Given the description of an element on the screen output the (x, y) to click on. 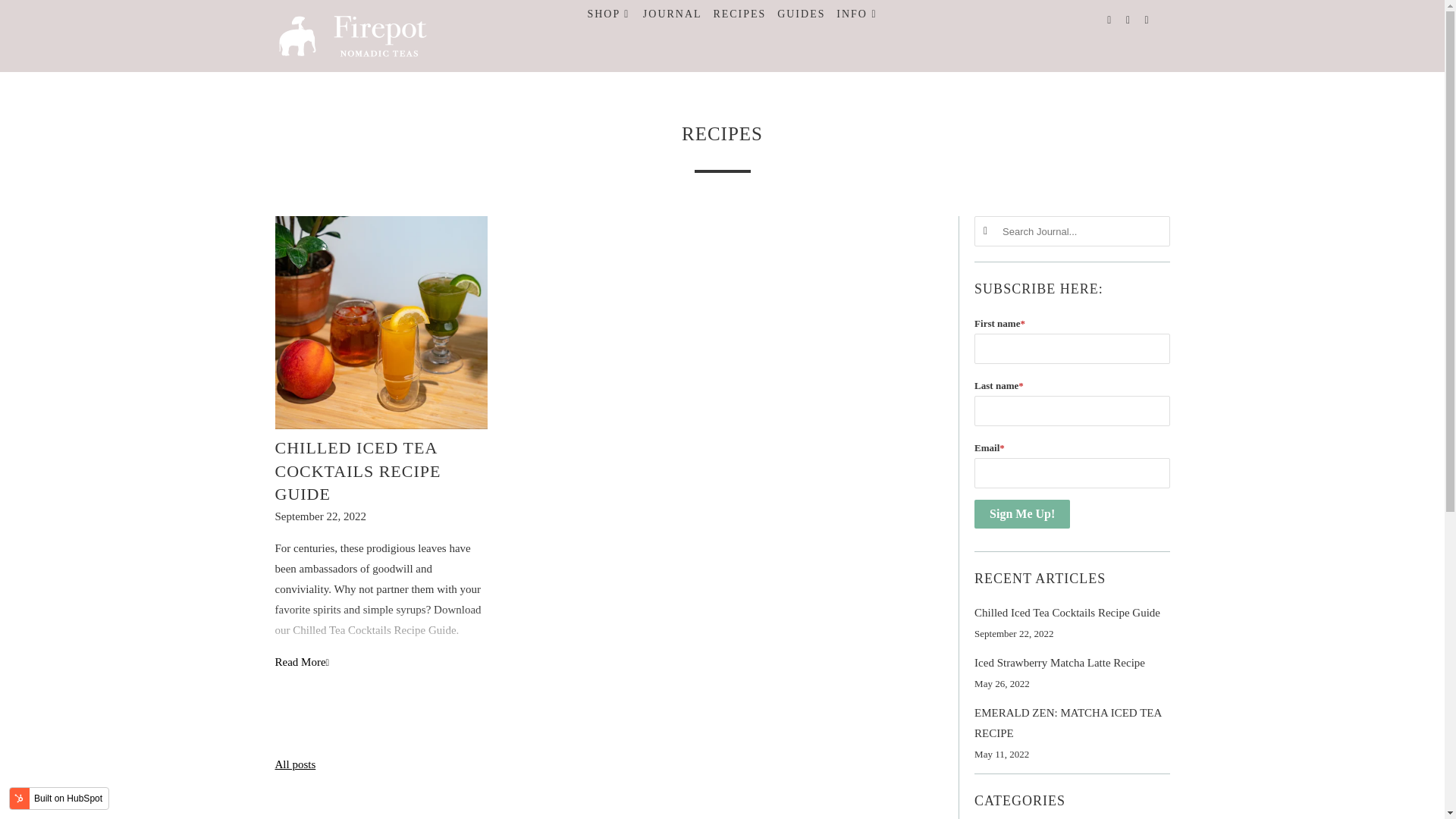
Firepot (352, 35)
Sign Me Up! (1022, 513)
